Given the description of an element on the screen output the (x, y) to click on. 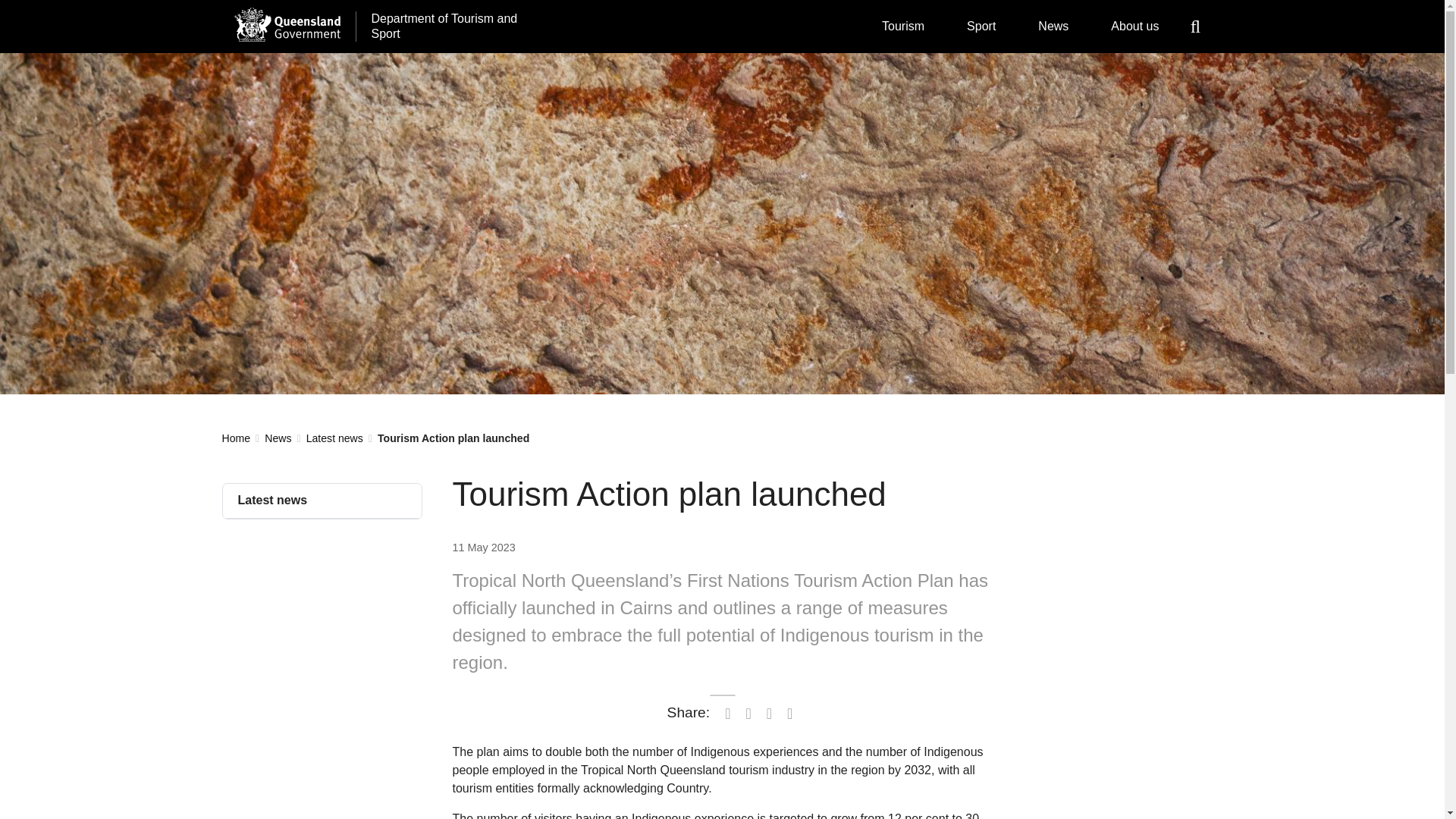
Queensland Government (285, 24)
Sport (980, 26)
Tourism (902, 26)
About us (1134, 26)
News (1052, 26)
Department of Tourism and Sport (446, 26)
